Given the description of an element on the screen output the (x, y) to click on. 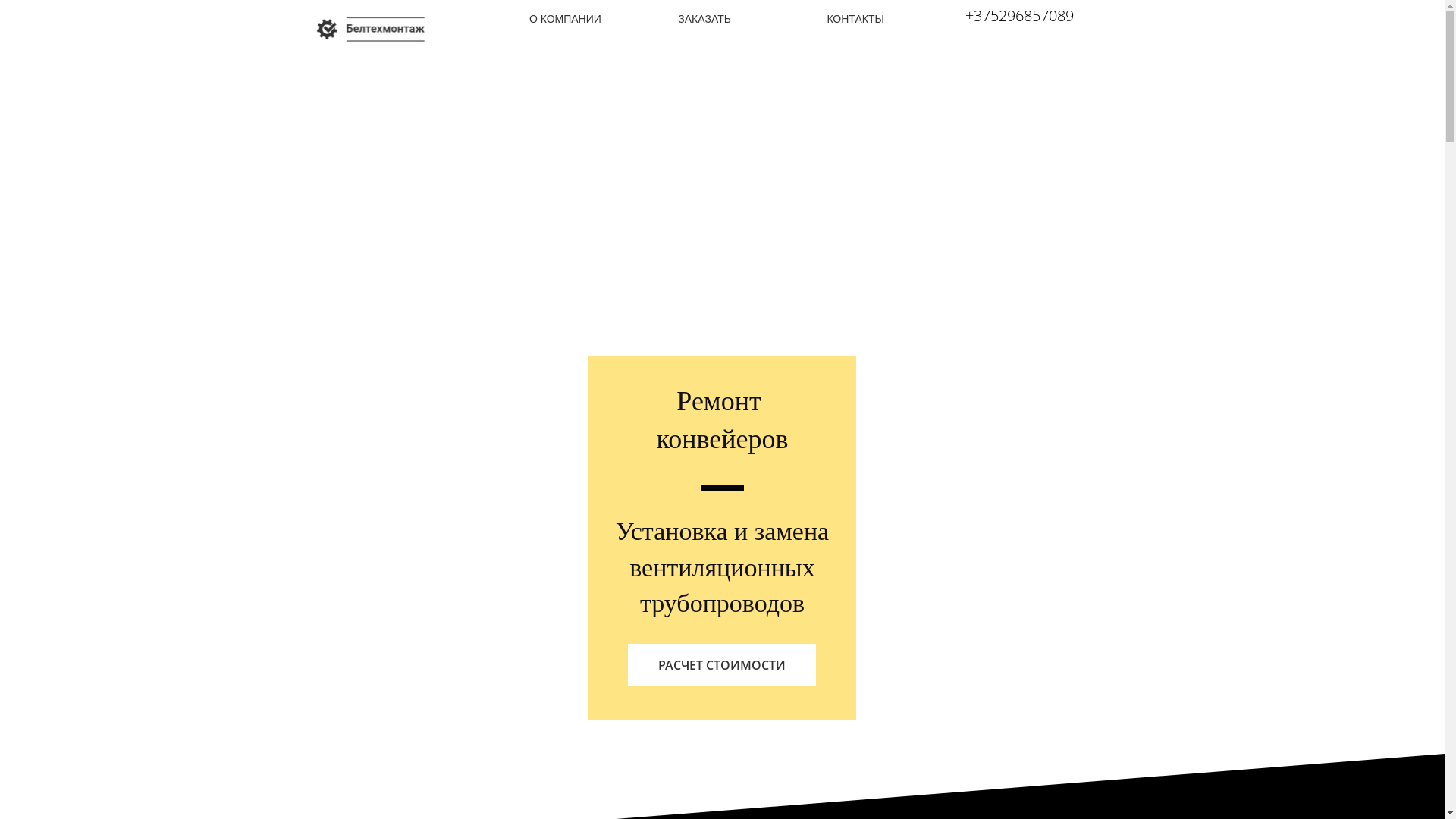
+375296857089 Element type: text (1019, 15)
